Given the description of an element on the screen output the (x, y) to click on. 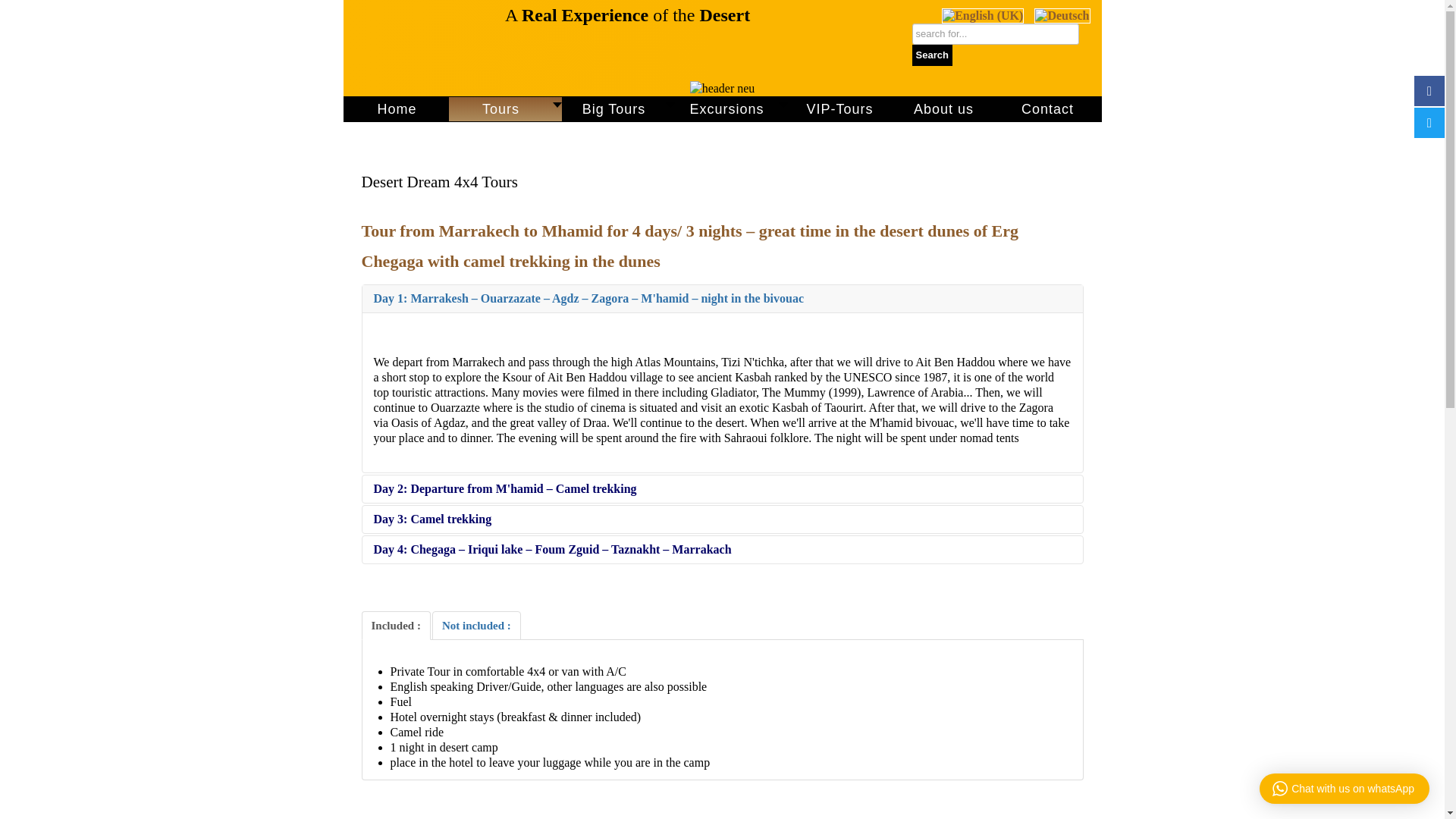
About us (943, 109)
Contact (1047, 109)
Included : (395, 624)
Day 3: Camel trekking (722, 519)
Home (396, 109)
Deutsch (1061, 15)
Search (931, 55)
Not included : (476, 624)
VIP-Tours (839, 109)
Big Tours (618, 109)
